Given the description of an element on the screen output the (x, y) to click on. 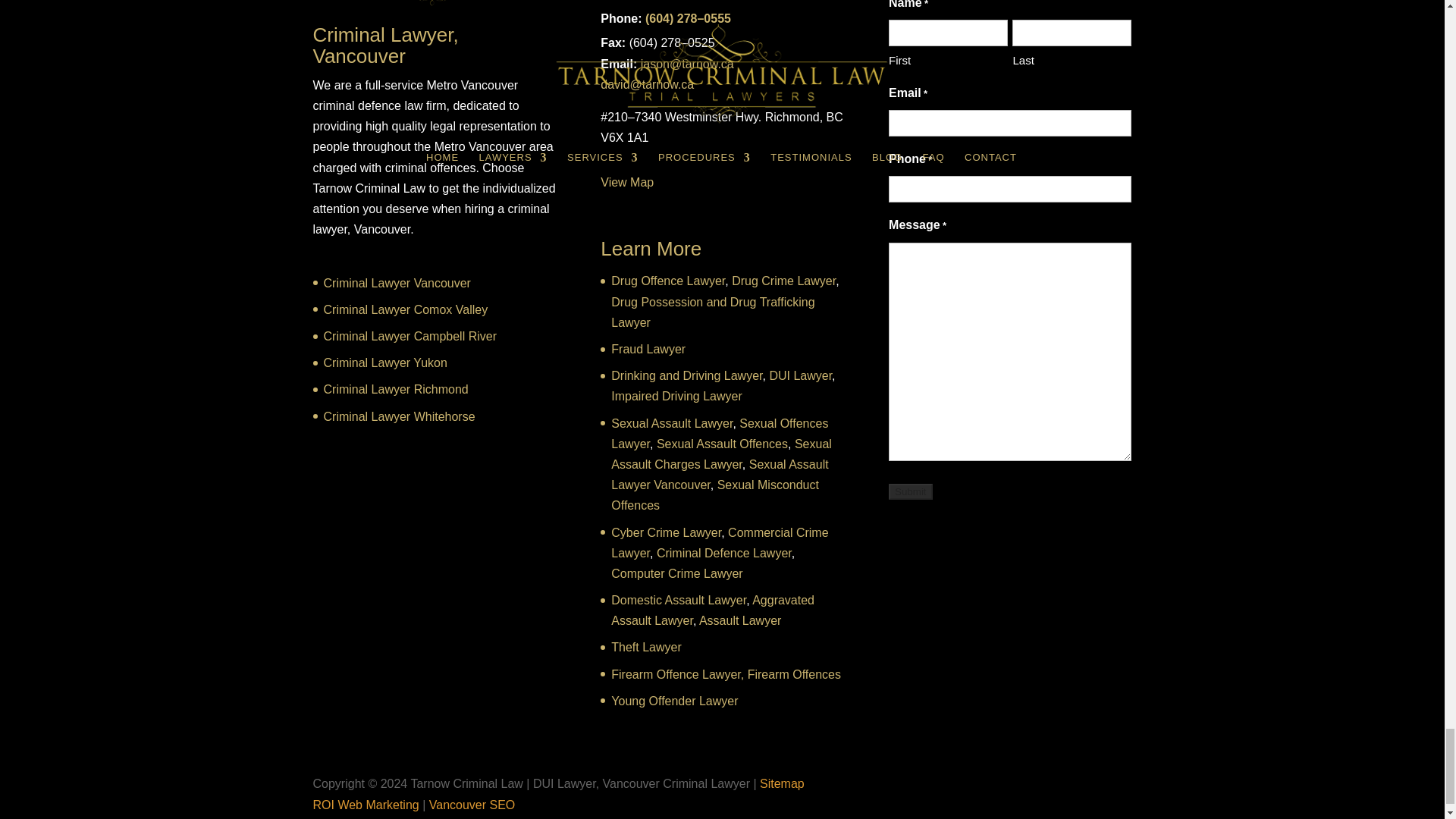
Submit (909, 491)
